Given the description of an element on the screen output the (x, y) to click on. 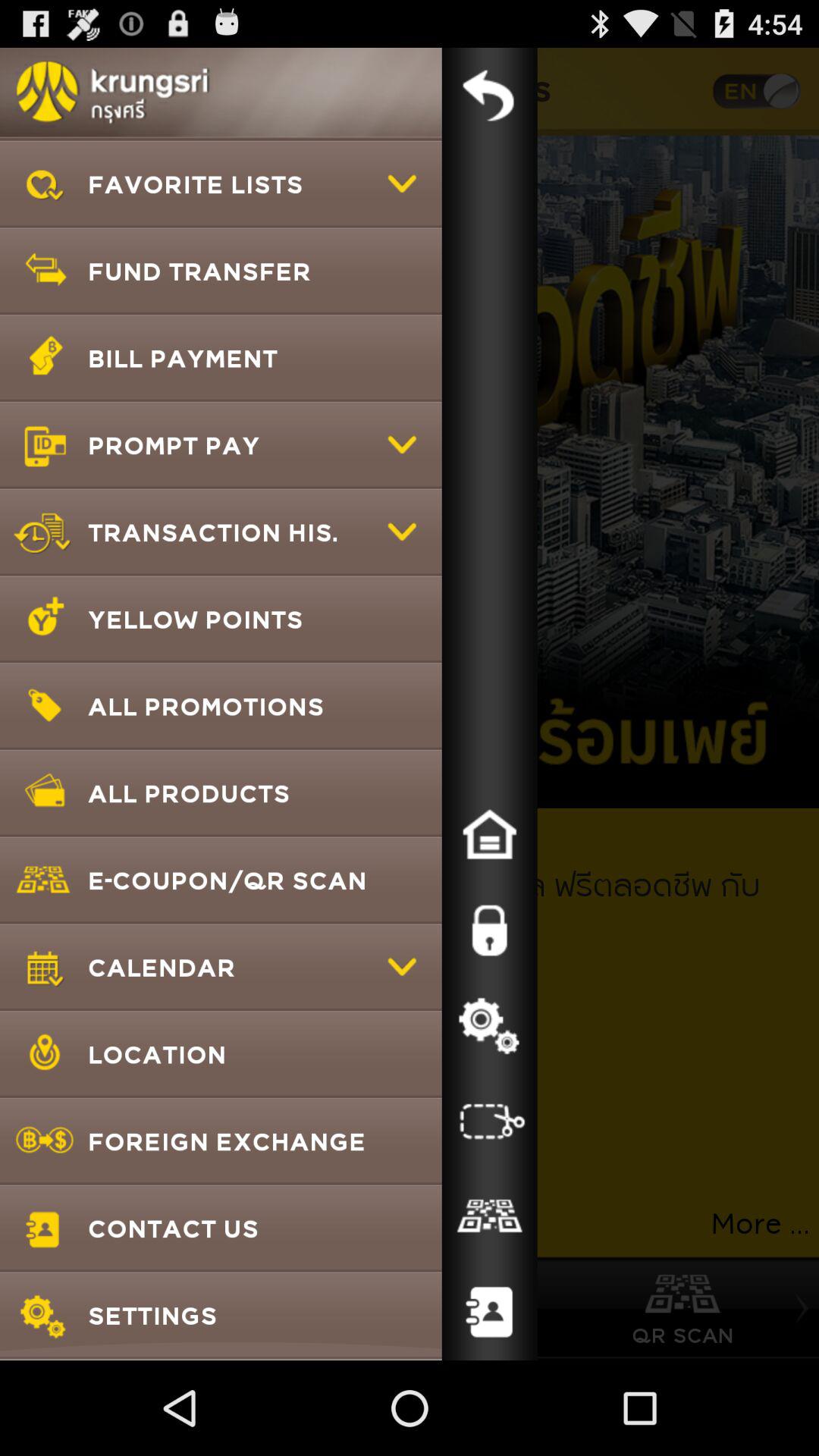
select the app next to e coupon qr icon (489, 930)
